Given the description of an element on the screen output the (x, y) to click on. 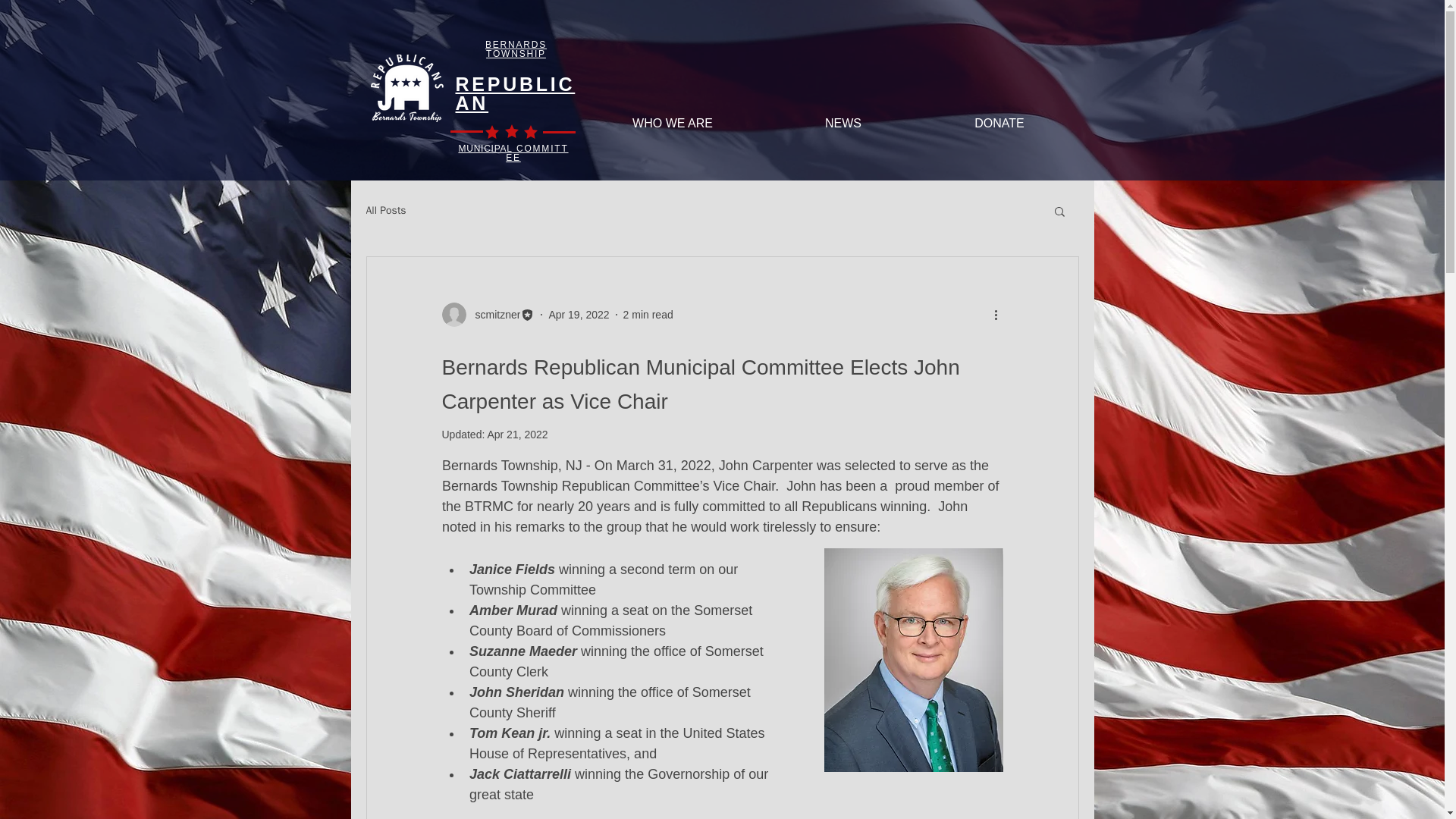
2 min read (647, 313)
All Posts (385, 210)
MUNICIPAL COMMITTEE (512, 152)
Apr 19, 2022 (578, 313)
NEWS (843, 122)
REPUBLICAN (514, 93)
WHO WE ARE (672, 122)
DONATE (998, 122)
scmitzner (487, 314)
Apr 21, 2022 (516, 434)
